Given the description of an element on the screen output the (x, y) to click on. 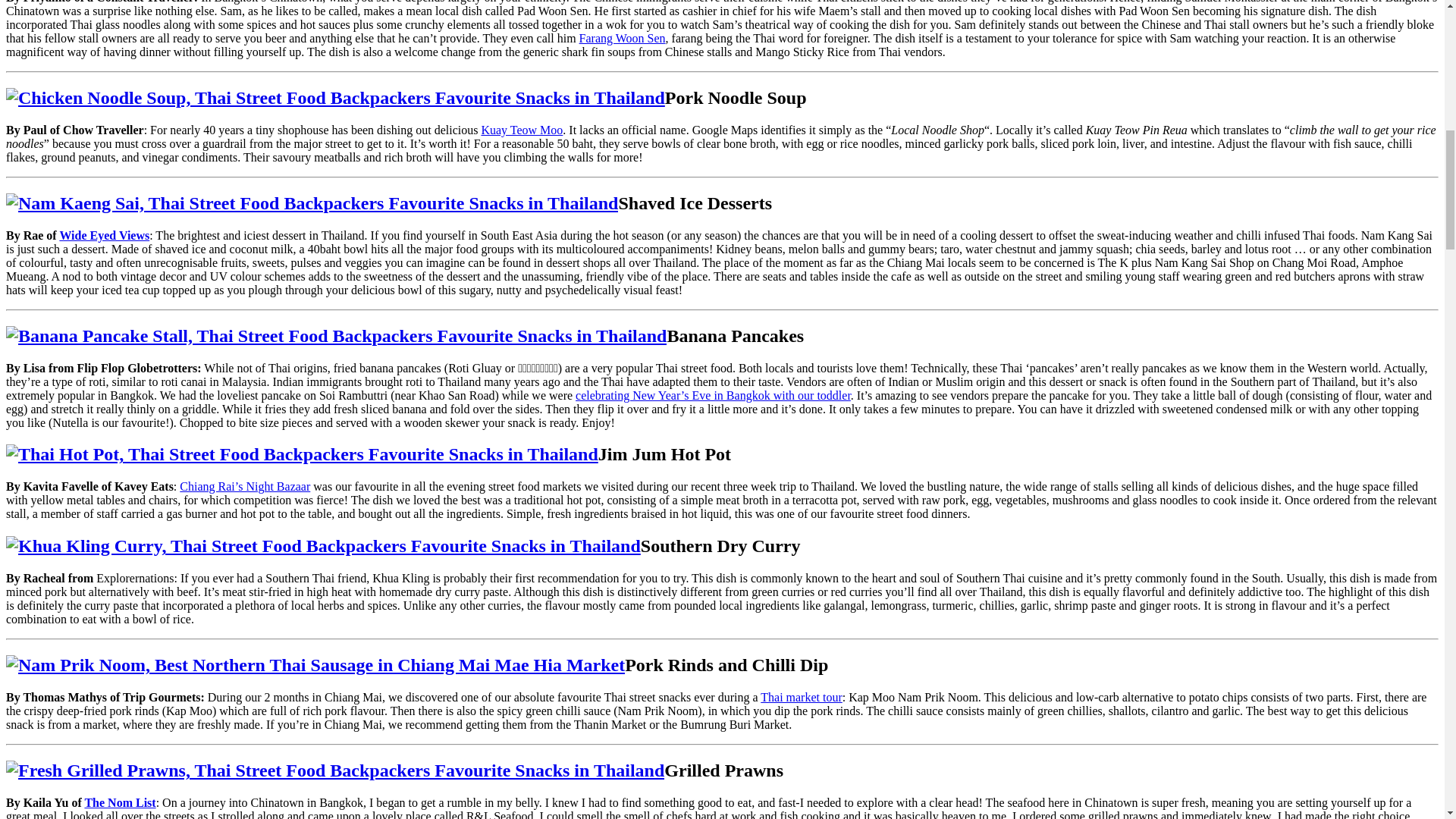
Wide Eyed Views (104, 235)
Farang Woon Sen (622, 38)
Kuay Teow Moo (521, 129)
The Nom List (119, 802)
Thai market tour (801, 697)
